Given the description of an element on the screen output the (x, y) to click on. 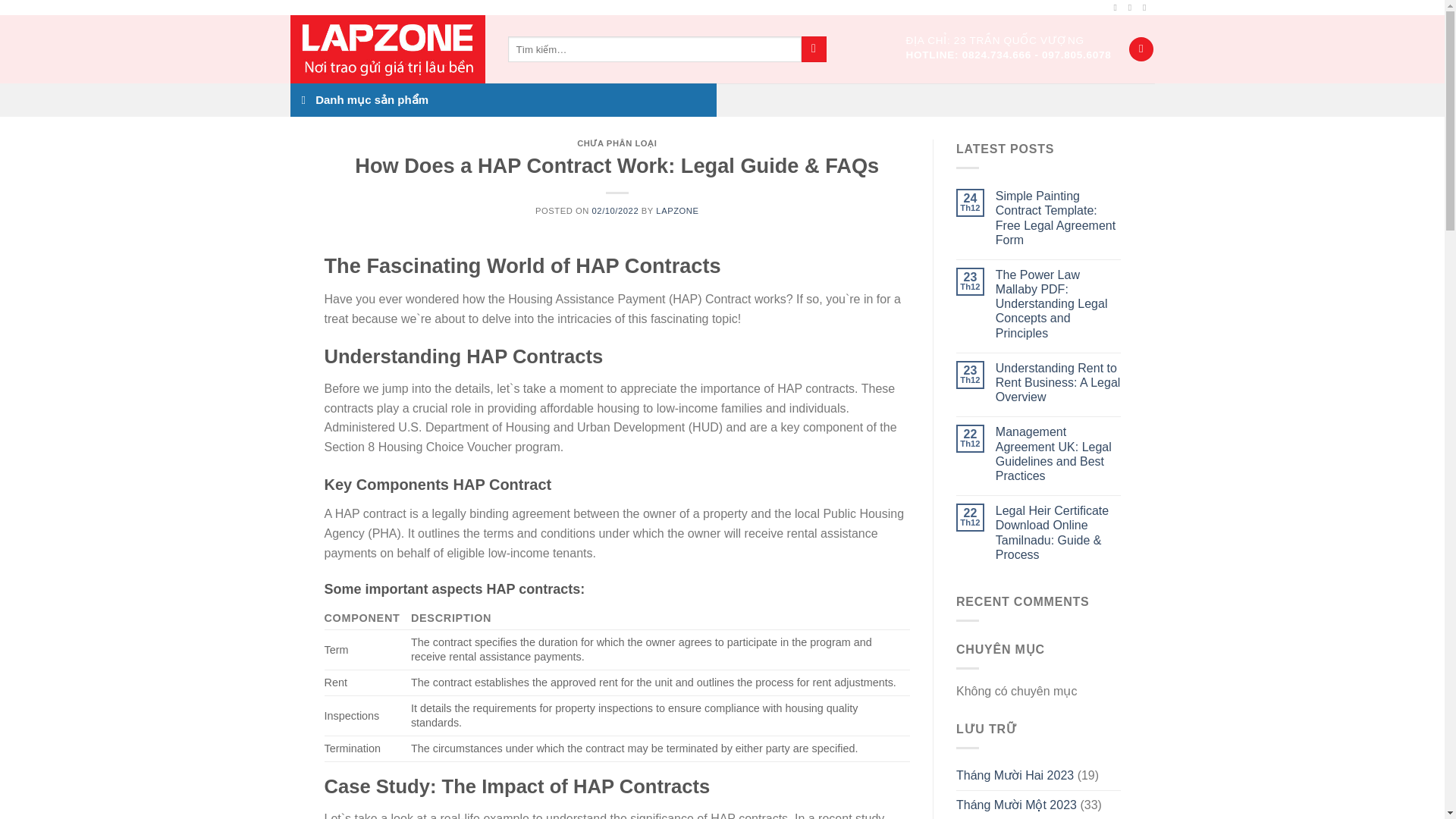
Understanding Rent to Rent Business: A Legal Overview (1058, 382)
Simple Painting Contract Template: Free Legal Agreement Form (1058, 218)
Management Agreement UK: Legal Guidelines and Best Practices (1058, 454)
LAPZONE (677, 210)
Simple Painting Contract Template: Free Legal Agreement Form (1058, 218)
Understanding Rent to Rent Business: A Legal Overview (1058, 382)
Management Agreement UK: Legal Guidelines and Best Practices (1058, 454)
